Given the description of an element on the screen output the (x, y) to click on. 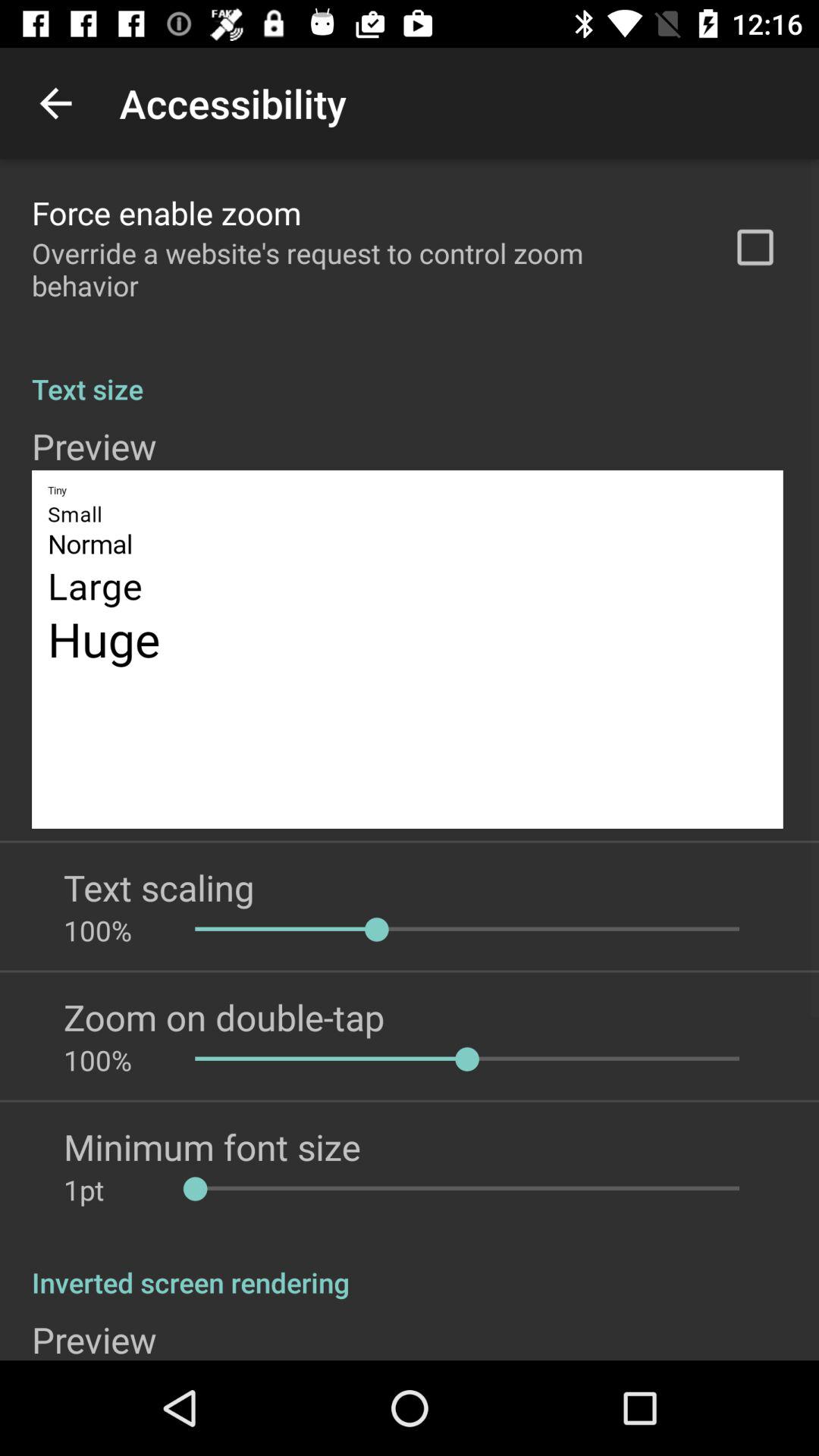
press item below force enable zoom (361, 269)
